Given the description of an element on the screen output the (x, y) to click on. 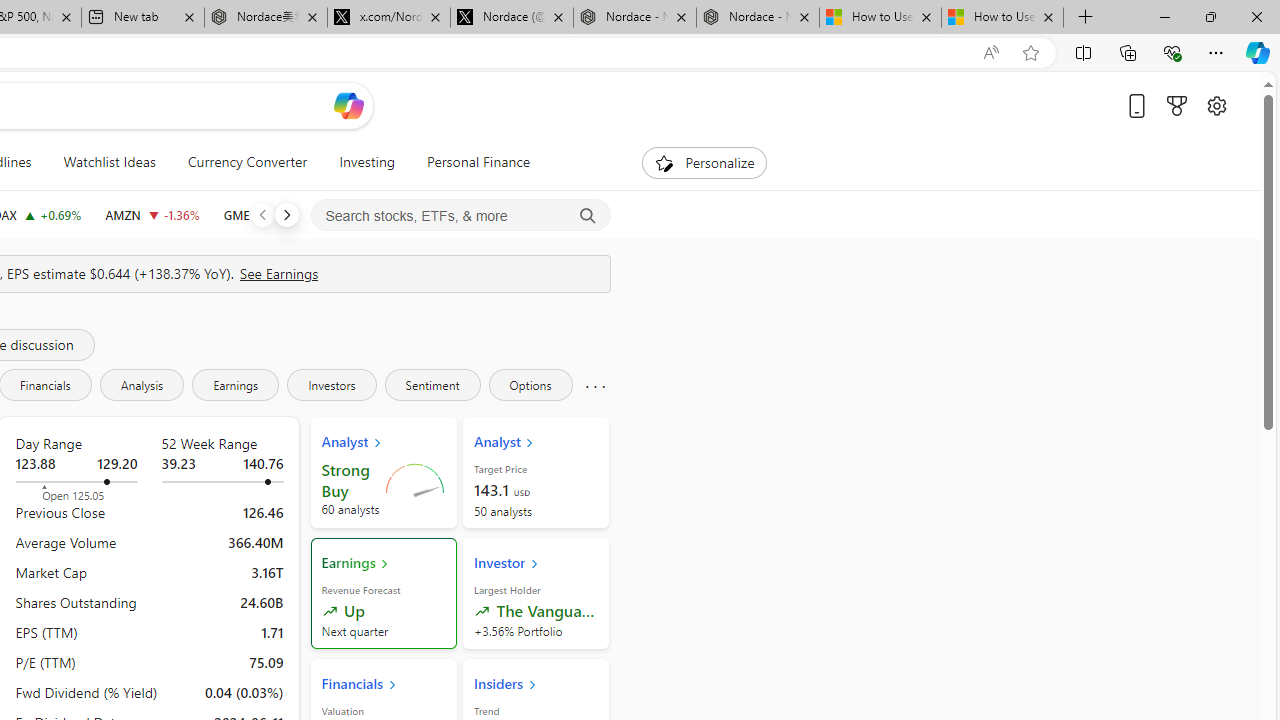
Open settings (1216, 105)
Currency Converter (247, 162)
Sentiment (432, 384)
Previous (262, 214)
Class: card_head_icon_lightMode-DS-EntryPoint1-1 (531, 684)
To get missing image descriptions, open the context menu. (664, 162)
Currency Converter (247, 162)
